Given the description of an element on the screen output the (x, y) to click on. 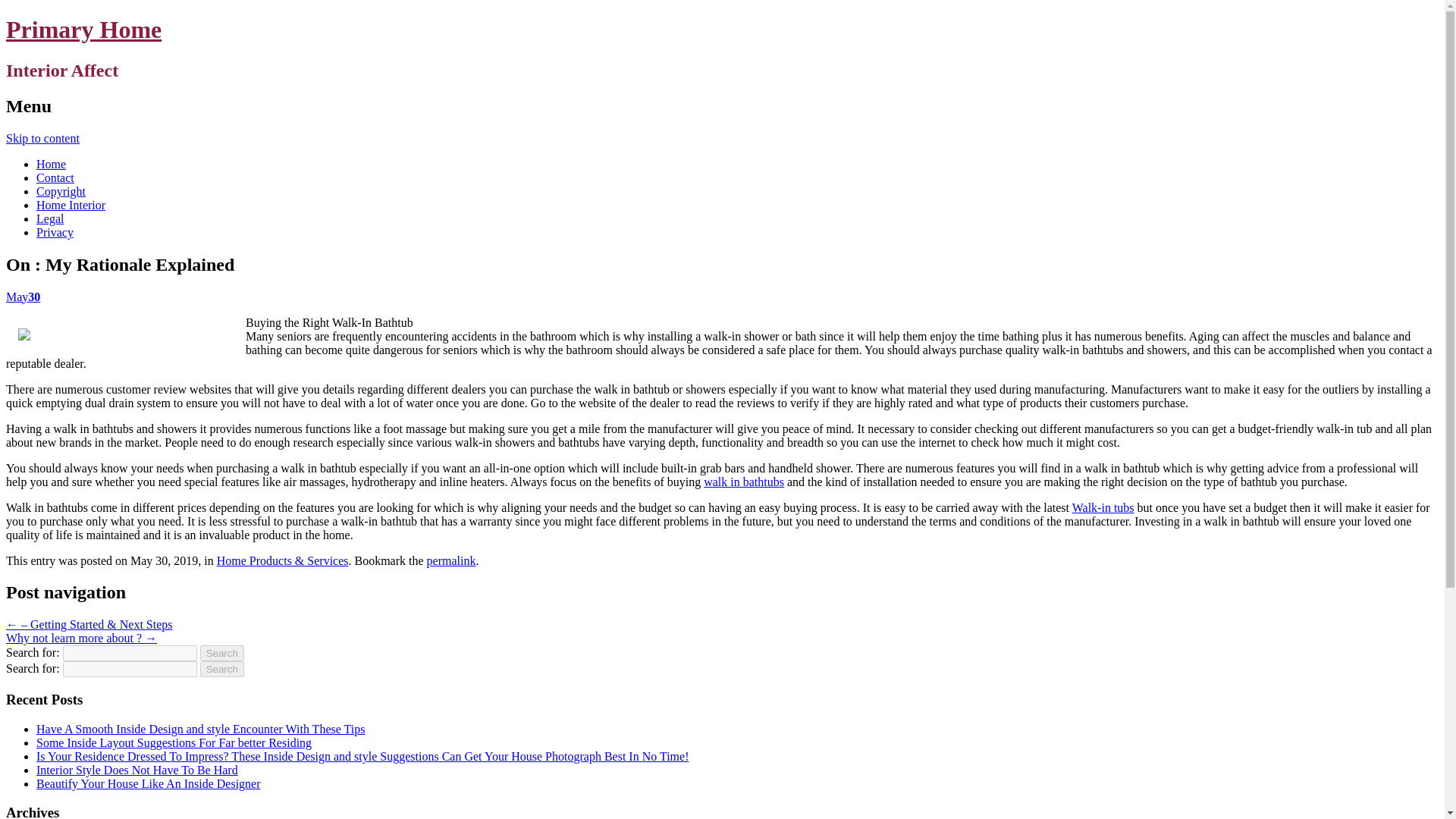
May30 (22, 295)
Interior Style Does Not Have To Be Hard (137, 769)
Home (50, 164)
Permalink to On : My Rationale Explained (451, 559)
May 30, 2019 (22, 295)
Legal (50, 218)
Primary Home (83, 29)
Home Interior (70, 205)
walk in bathtubs (743, 481)
Contact (55, 177)
Search (222, 668)
Copyright (60, 191)
Search (222, 652)
